Given the description of an element on the screen output the (x, y) to click on. 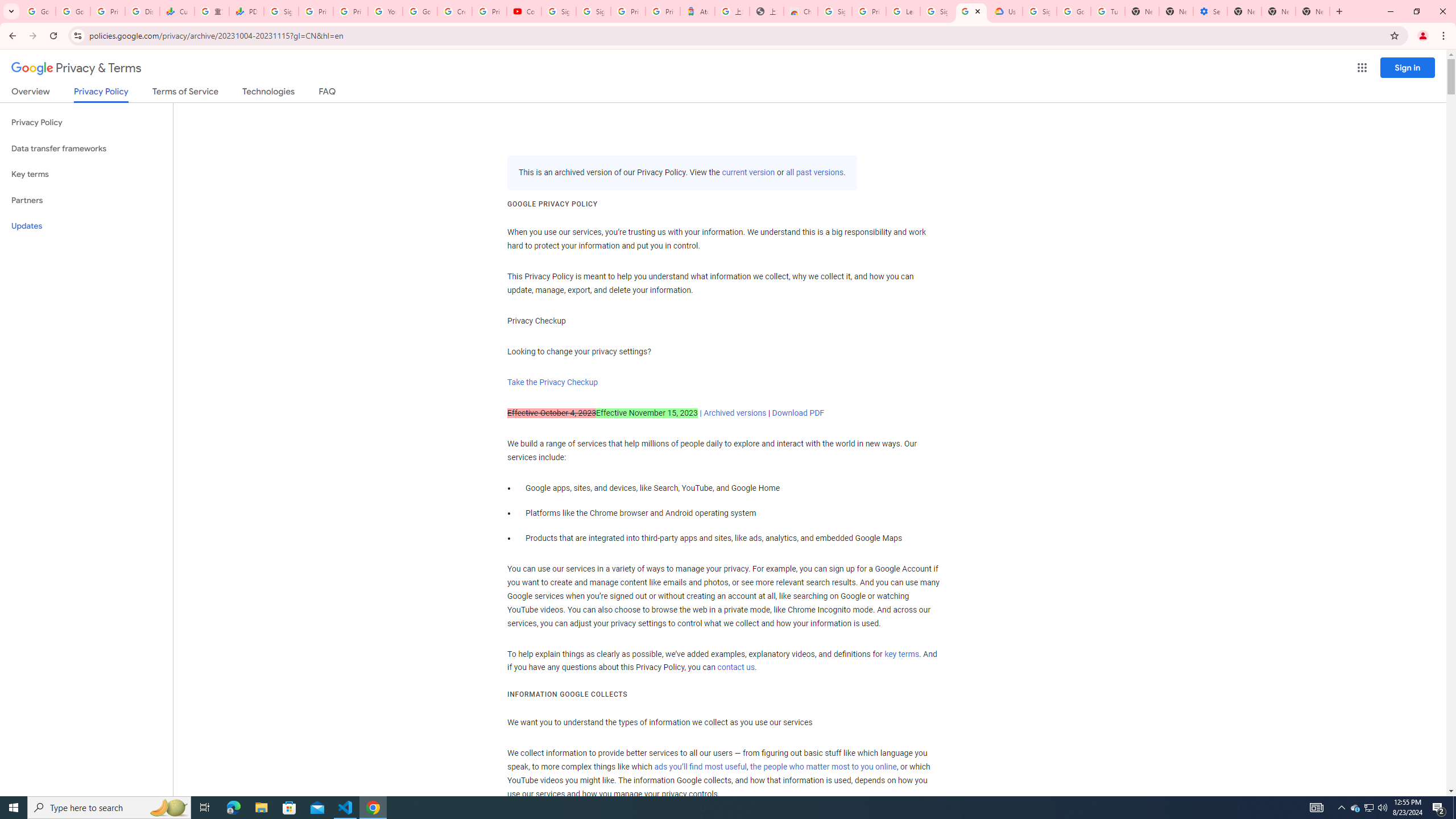
Turn cookies on or off - Computer - Google Account Help (1107, 11)
Sign in - Google Accounts (592, 11)
Sign in - Google Accounts (1039, 11)
